Given the description of an element on the screen output the (x, y) to click on. 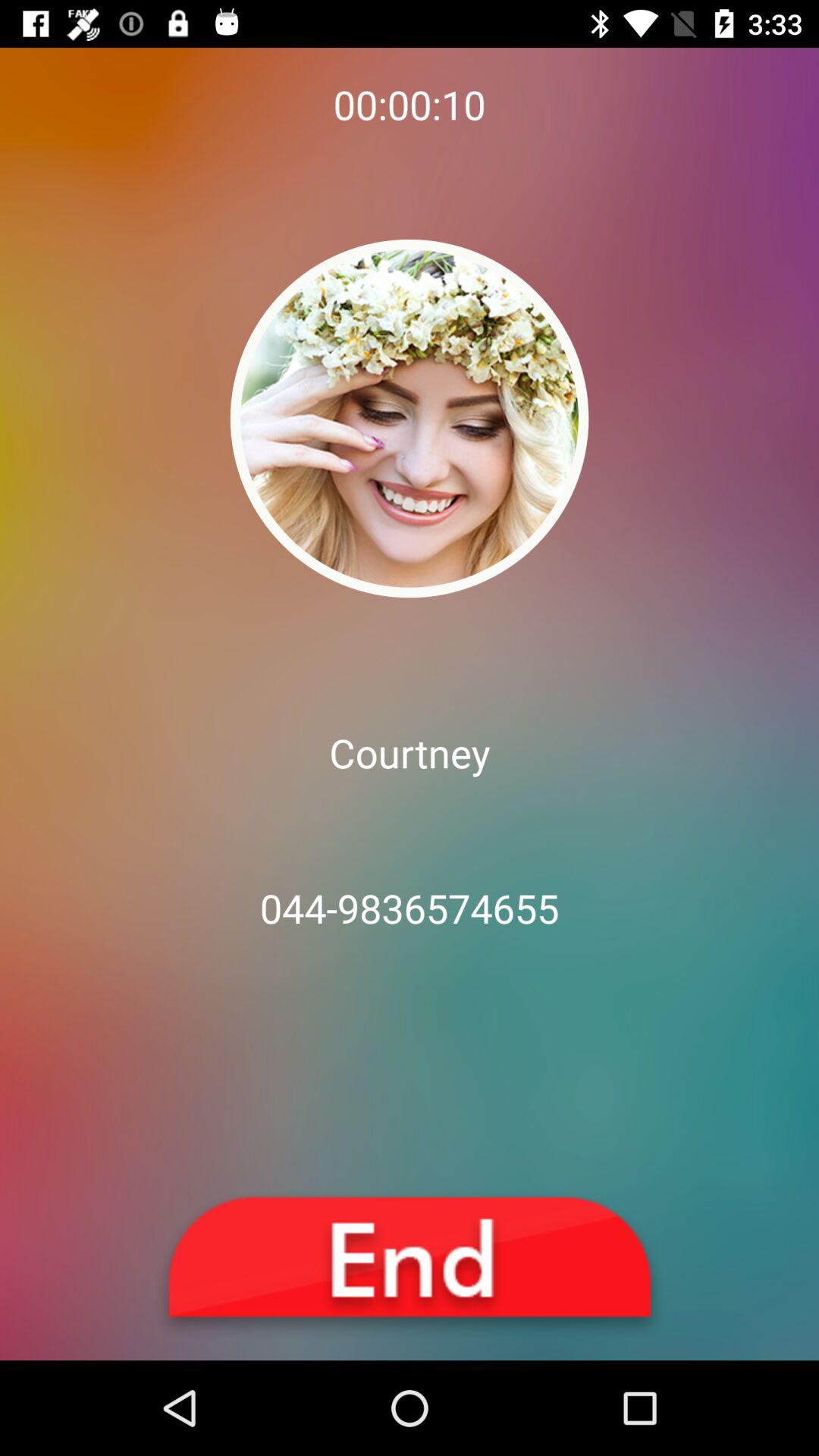
select the icon below the 044-9836574655 (409, 1264)
